Given the description of an element on the screen output the (x, y) to click on. 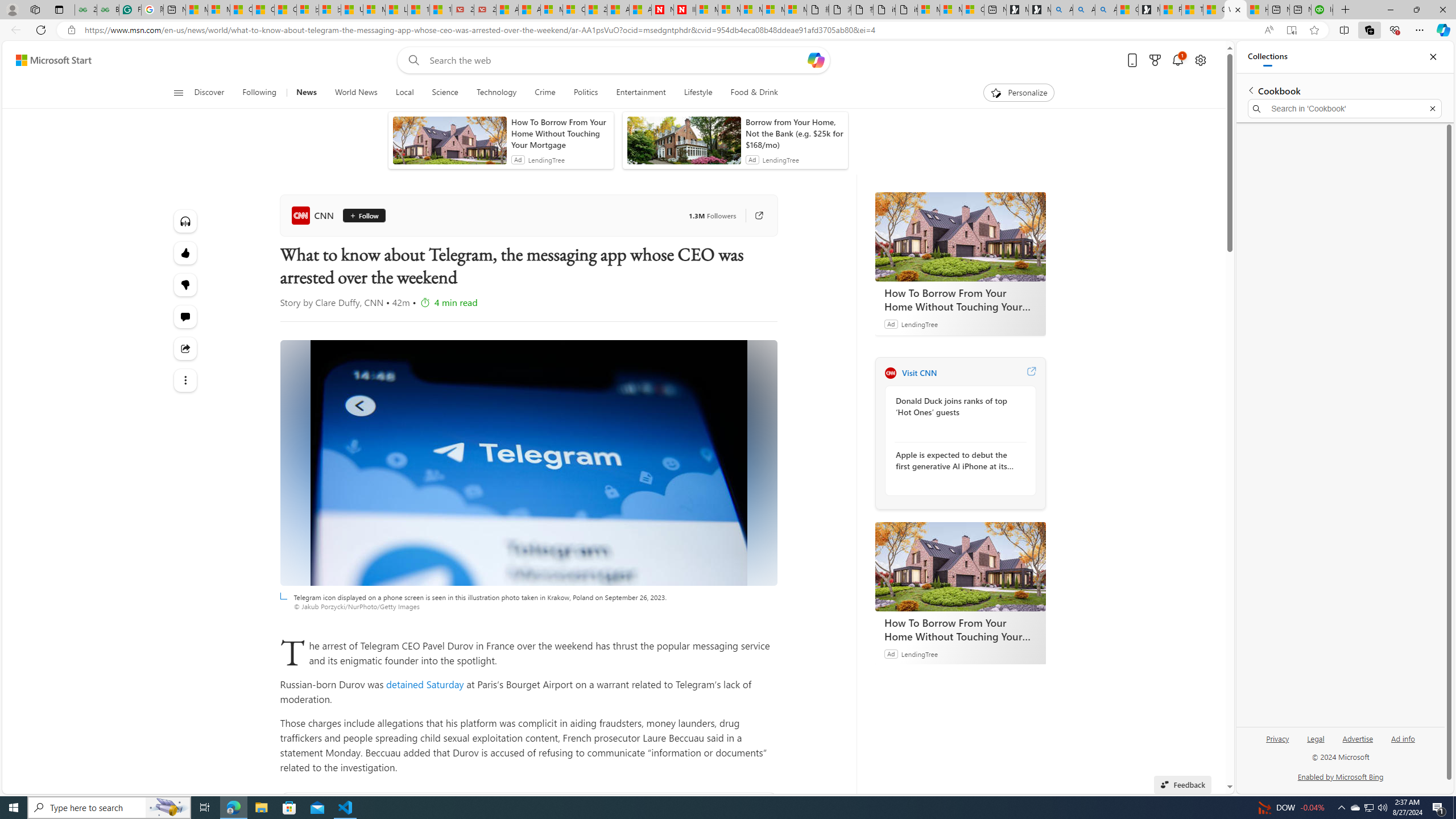
Newsweek - News, Analysis, Politics, Business, Technology (662, 9)
15 Ways Modern Life Contradicts the Teachings of Jesus (441, 9)
CNN - MSN (1214, 9)
25 Basic Linux Commands For Beginners - GeeksforGeeks (85, 9)
